Given the description of an element on the screen output the (x, y) to click on. 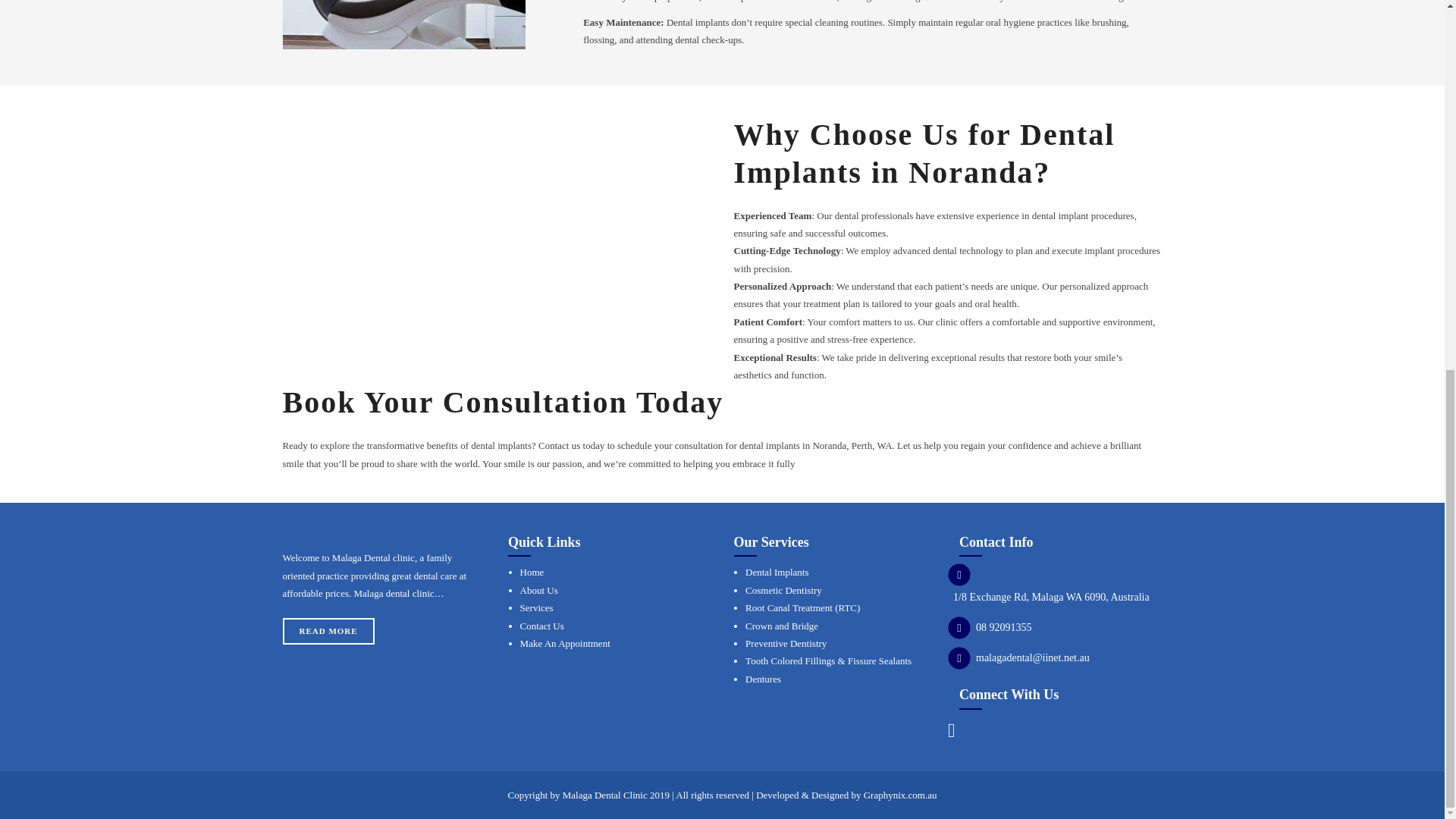
Make An Appointment (564, 643)
Contact Us (541, 625)
Graphynix.com.au (900, 794)
Cosmetic Dentistry (783, 590)
READ MORE (328, 631)
About Us (538, 590)
Services (536, 607)
Home (531, 572)
Crown and Bridge (781, 625)
Preventive Dentistry (786, 643)
